Given the description of an element on the screen output the (x, y) to click on. 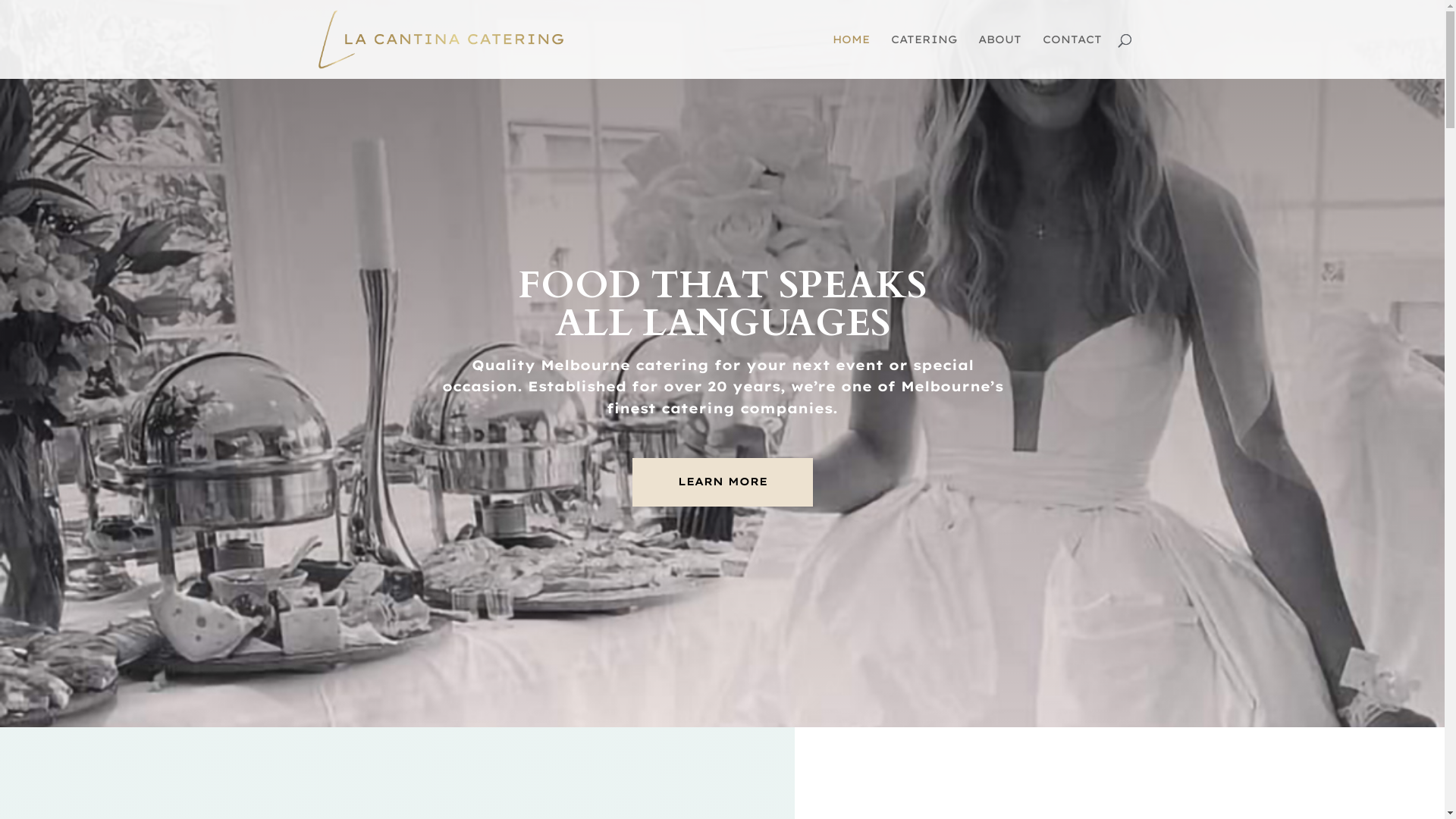
CONTACT Element type: text (1071, 56)
HOME Element type: text (850, 56)
CATERING Element type: text (923, 56)
ABOUT Element type: text (999, 56)
LEARN MORE Element type: text (722, 482)
